Given the description of an element on the screen output the (x, y) to click on. 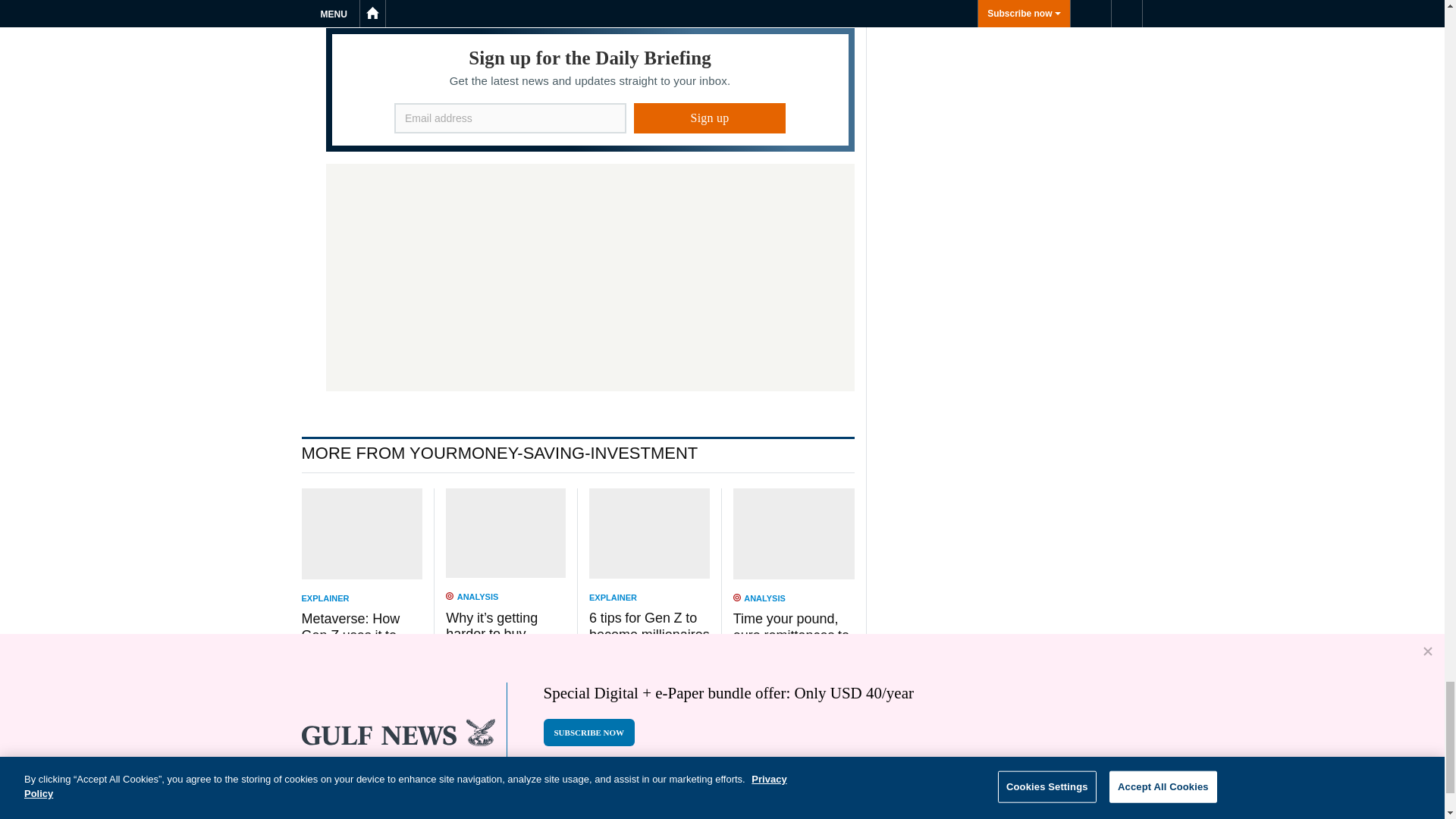
Sign up for the Daily Briefing (590, 89)
